Given the description of an element on the screen output the (x, y) to click on. 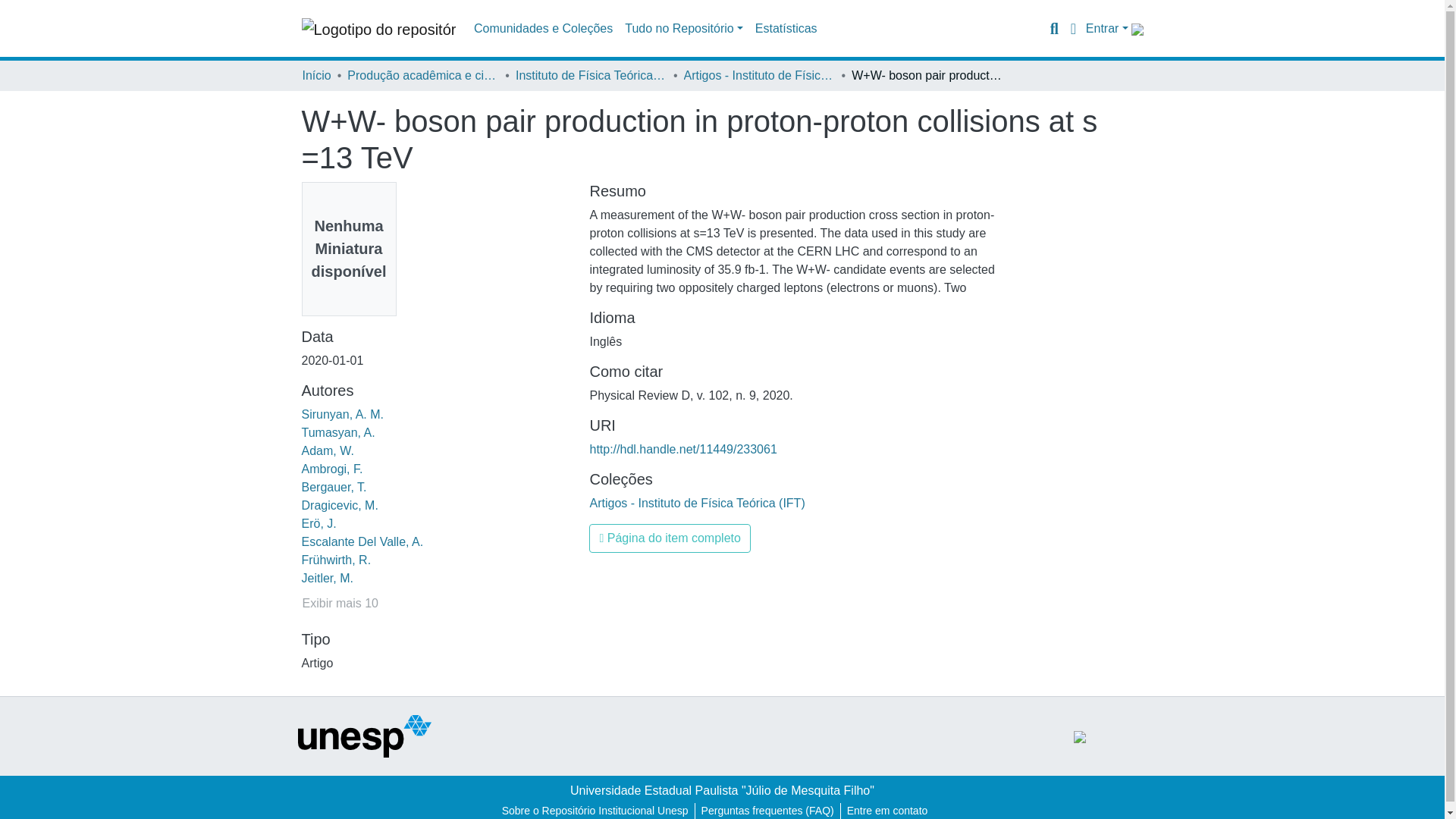
Exibir mais 10 (339, 603)
Bergauer, T. (333, 486)
Adam, W. (327, 450)
Jeitler, M. (327, 577)
Ambrogi, F. (331, 468)
Dragicevic, M. (339, 504)
Entrar (1107, 28)
Alternar idioma (1073, 28)
Tumasyan, A. (338, 431)
Sirunyan, A. M. (342, 413)
Pesquisar (1054, 28)
Escalante Del Valle, A. (362, 541)
